Given the description of an element on the screen output the (x, y) to click on. 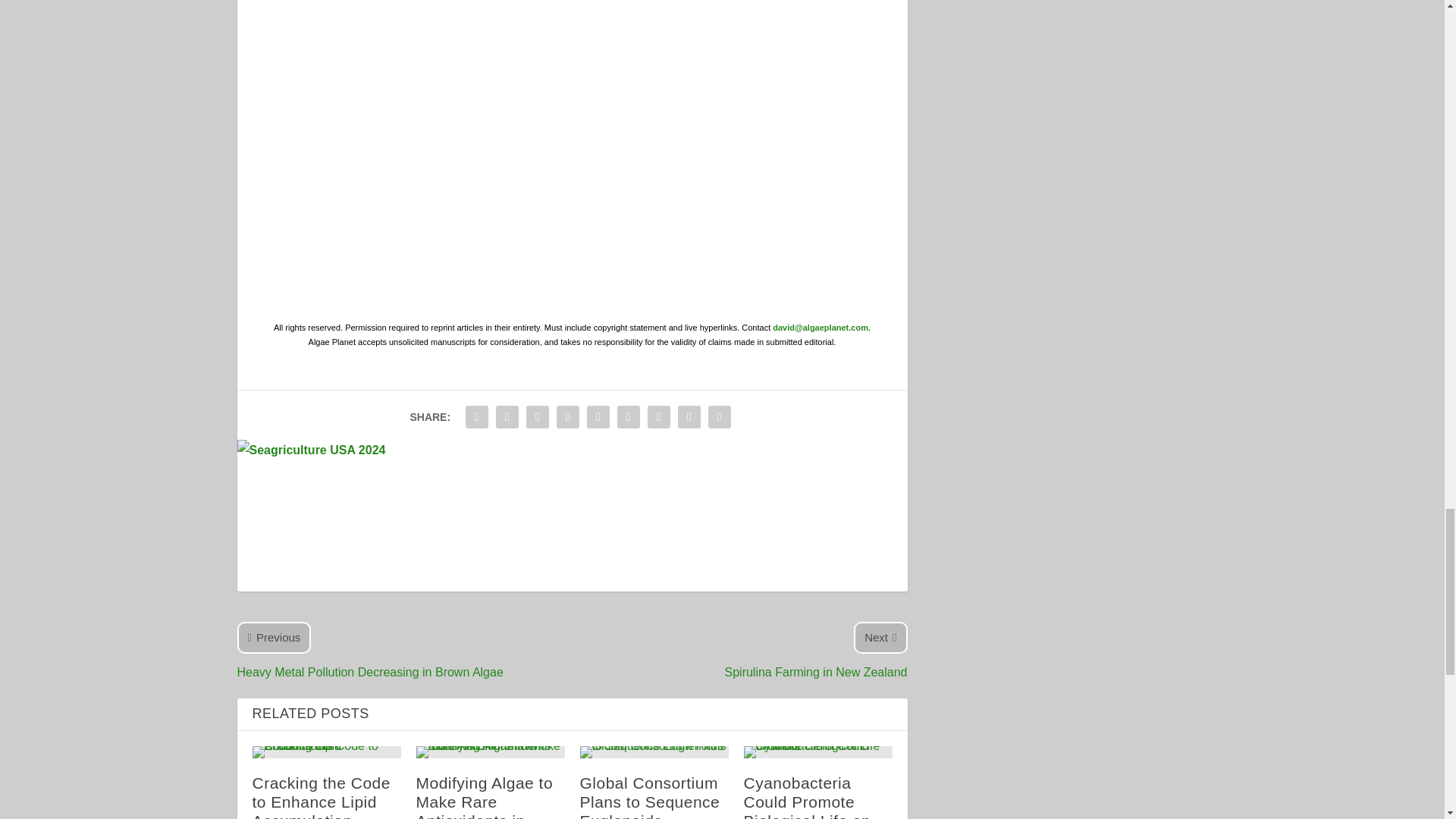
Global Consortium Plans to Sequence Euglenoids (653, 752)
Cracking the Code to Enhance Lipid Accumulation (325, 752)
